Given the description of an element on the screen output the (x, y) to click on. 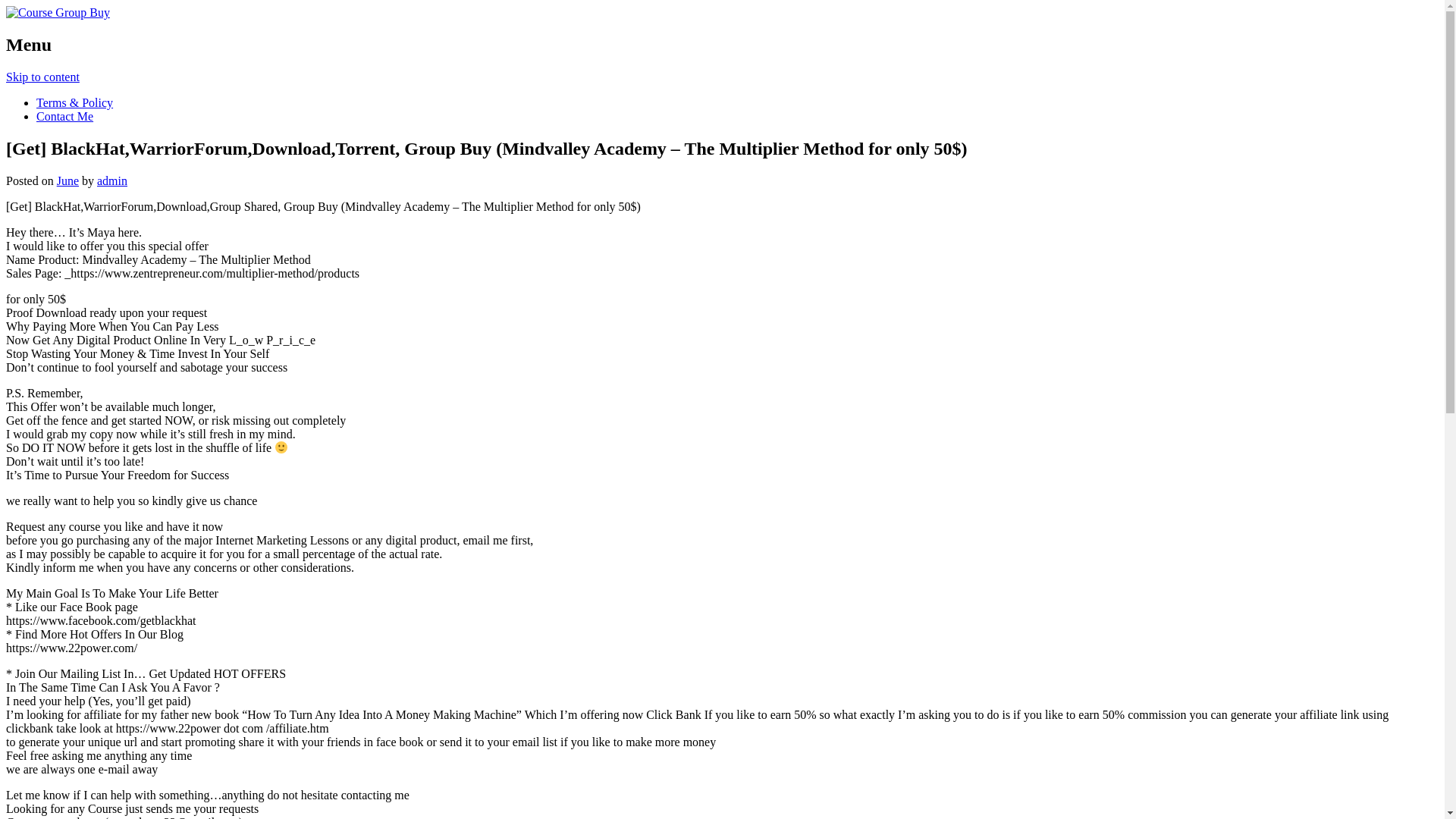
Terms & Policy Element type: text (74, 102)
June Element type: text (67, 180)
admin Element type: text (112, 180)
Skip to content Element type: text (42, 76)
Contact Me Element type: text (64, 115)
Course Group Buy Element type: hover (57, 12)
